Given the description of an element on the screen output the (x, y) to click on. 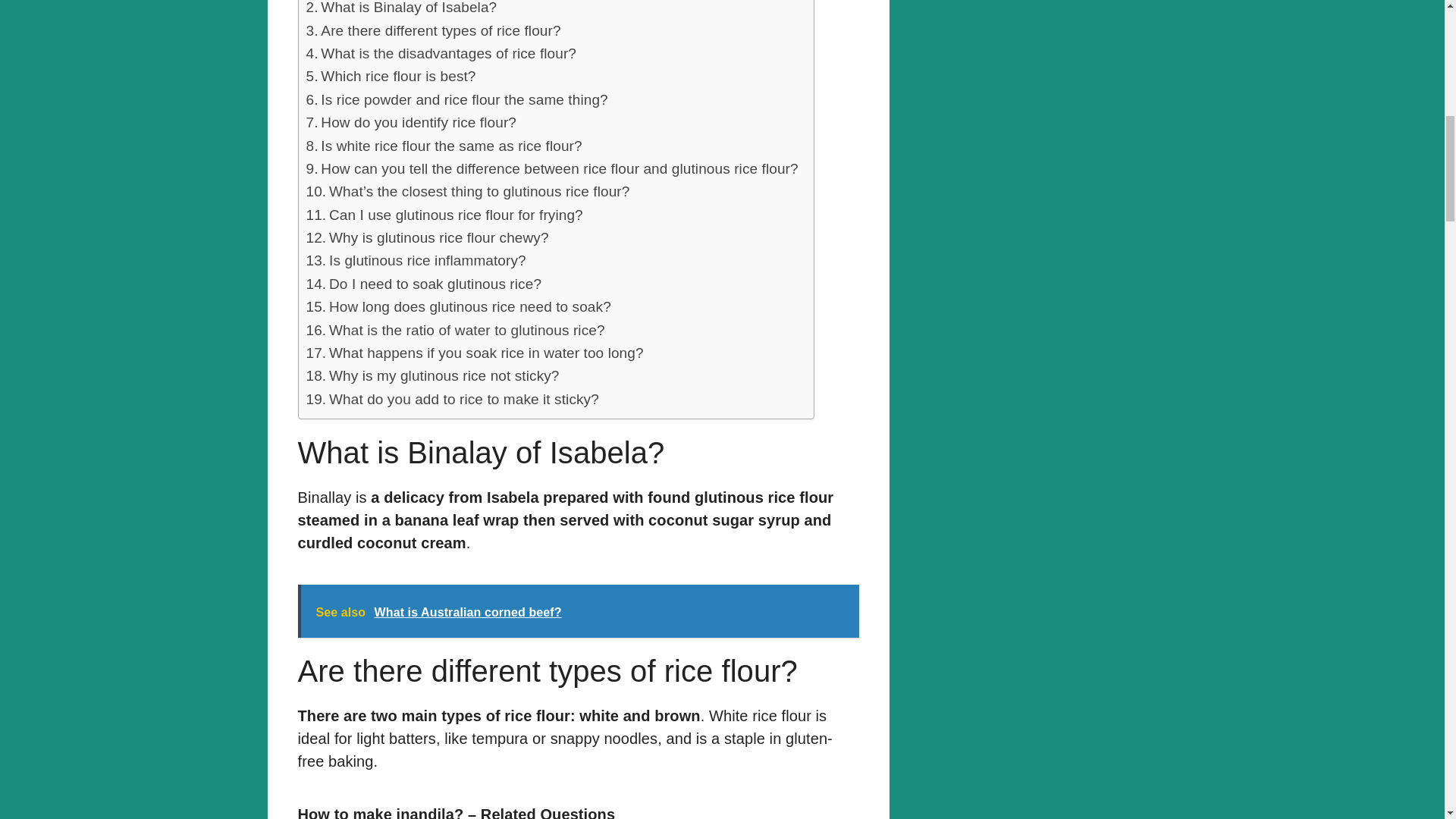
Is white rice flour the same as rice flour? (443, 146)
How do you identify rice flour? (410, 122)
What is Binalay of Isabela? (401, 9)
Are there different types of rice flour? (432, 30)
What is Binalay of Isabela? (401, 9)
How do you identify rice flour? (410, 122)
Is white rice flour the same as rice flour? (443, 146)
Why is glutinous rice flour chewy? (426, 237)
Is rice powder and rice flour the same thing? (456, 99)
What is the ratio of water to glutinous rice? (455, 330)
